Given the description of an element on the screen output the (x, y) to click on. 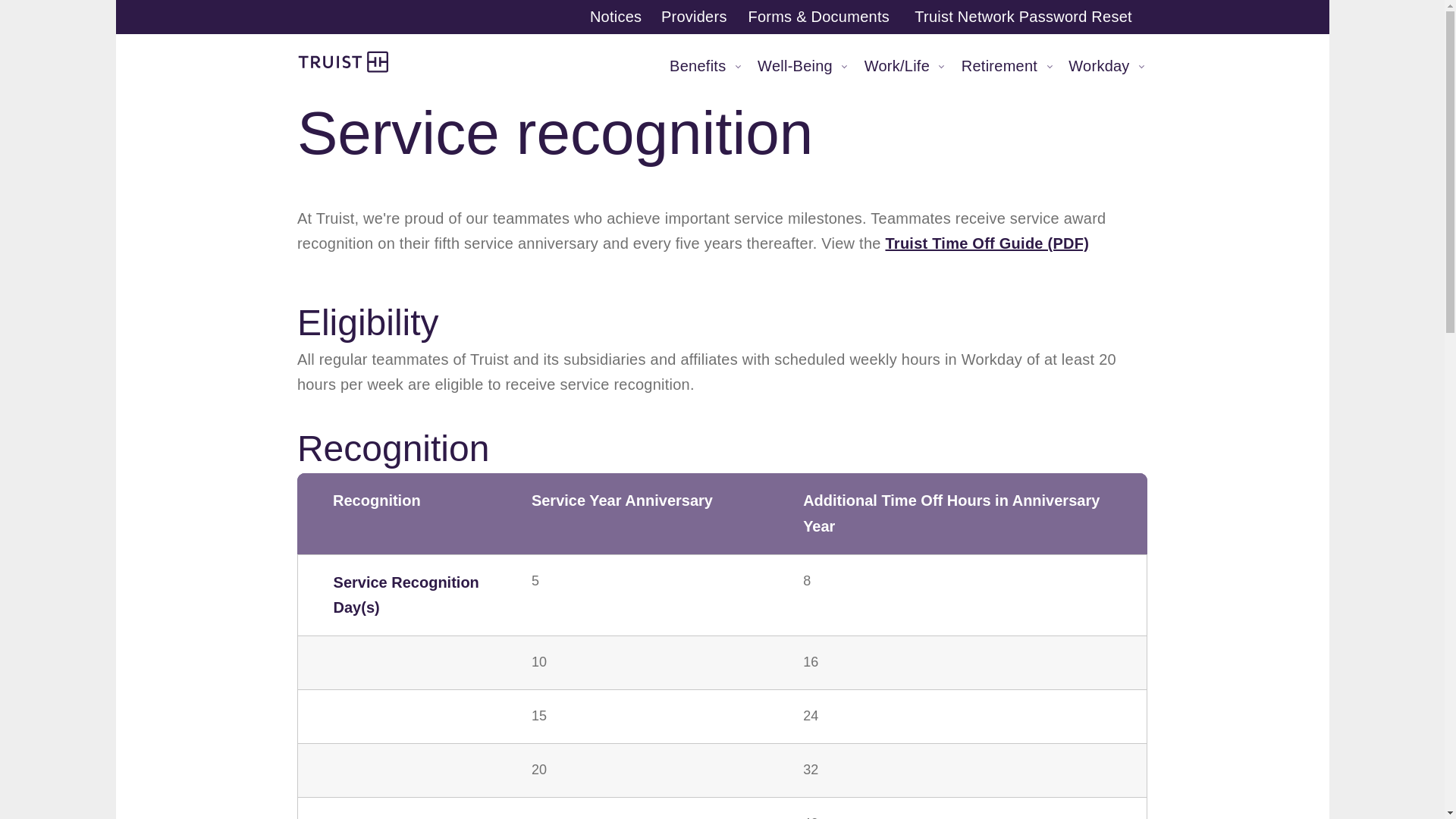
Well-Being (802, 69)
Retirement (1030, 16)
Truist Benefits (1006, 69)
Notices (343, 62)
Providers (617, 16)
Skip to main content (697, 16)
